Given the description of an element on the screen output the (x, y) to click on. 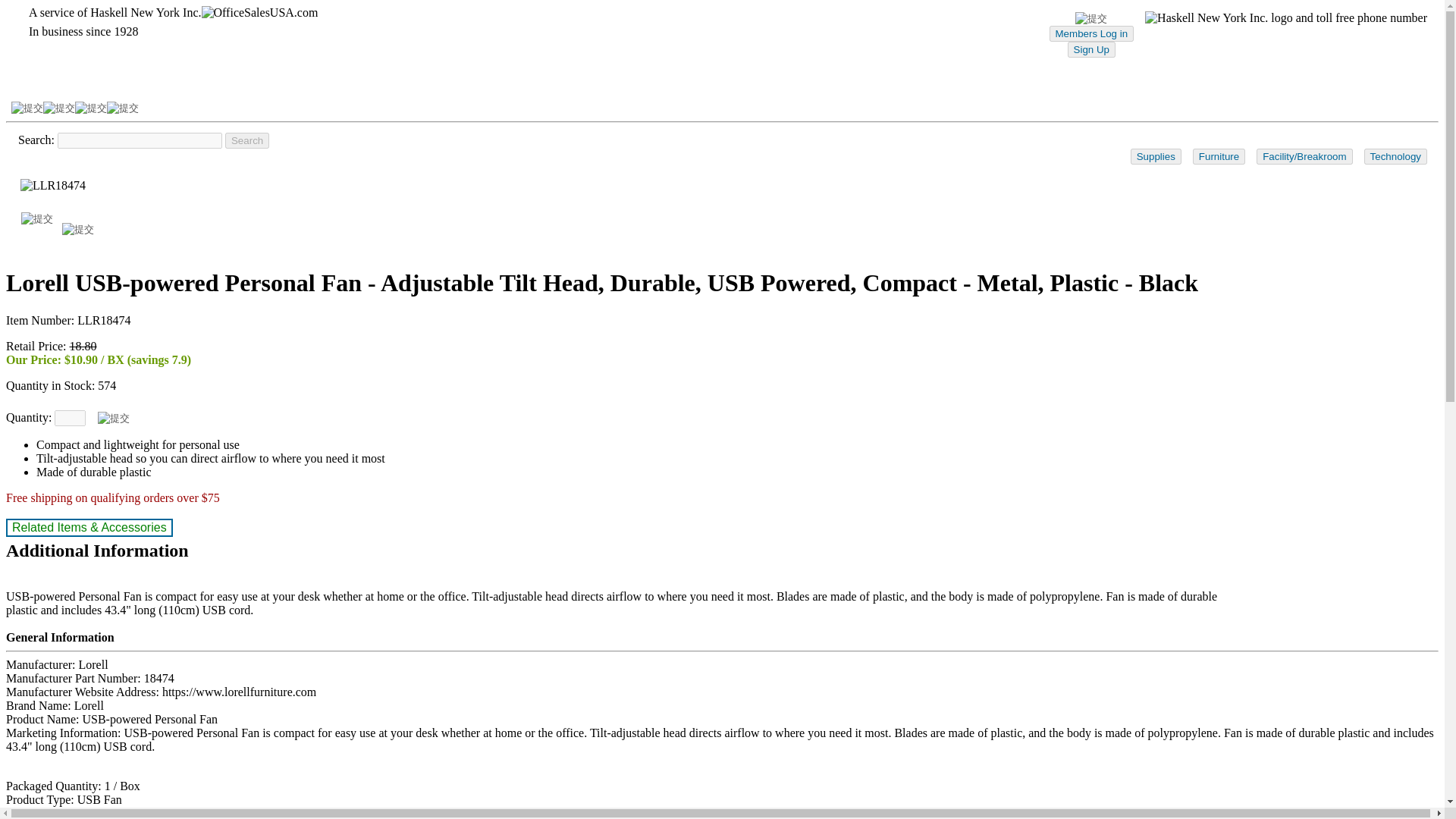
Supplies (1155, 156)
Furniture (1218, 156)
Members Log in (1091, 33)
Sign Up (1091, 49)
Sign Up (1091, 49)
Search (247, 140)
Supplies (1155, 156)
Furniture (1218, 156)
Members Log in (1091, 33)
Search (247, 140)
